Given the description of an element on the screen output the (x, y) to click on. 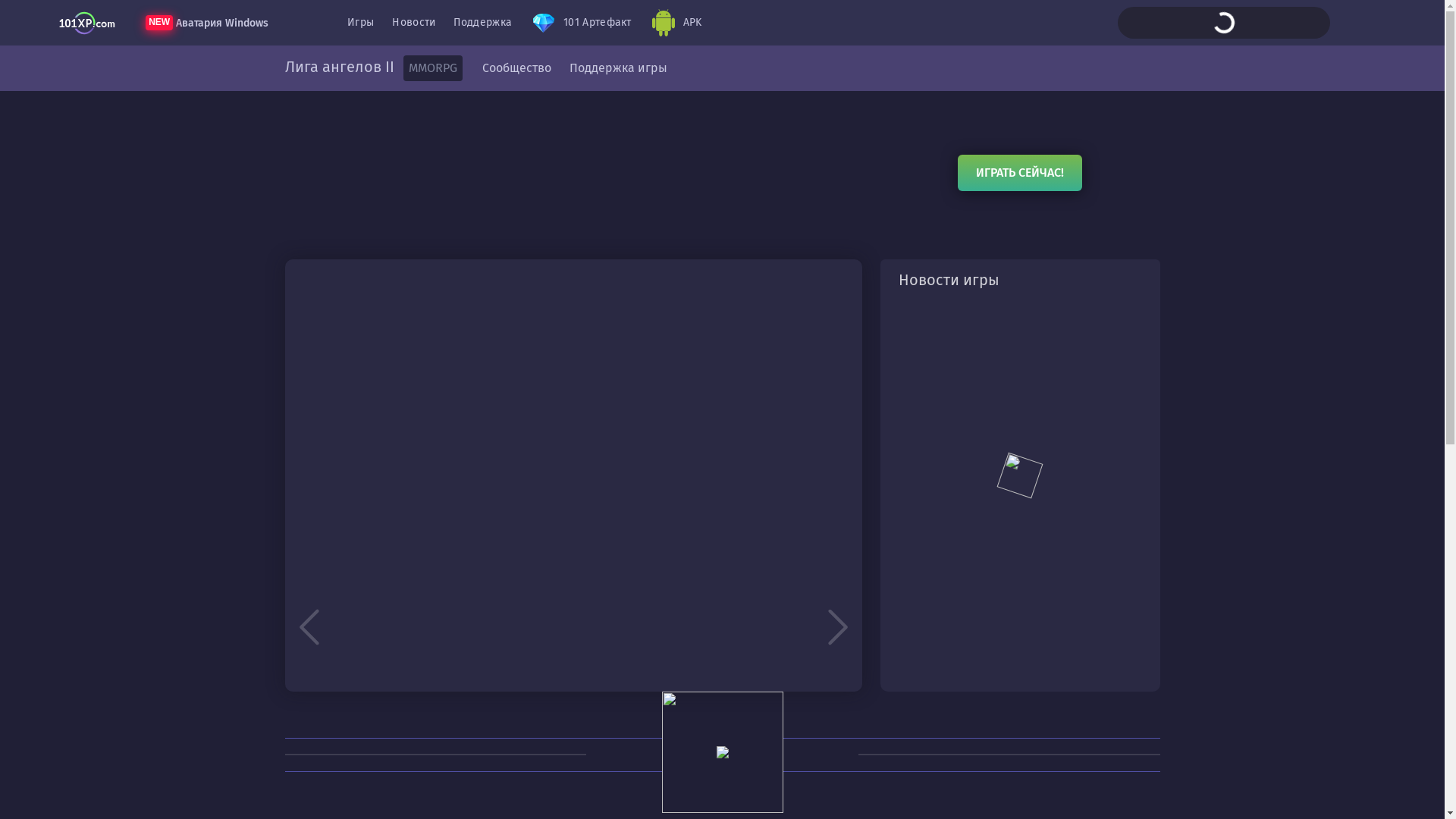
APK Element type: text (675, 22)
